Given the description of an element on the screen output the (x, y) to click on. 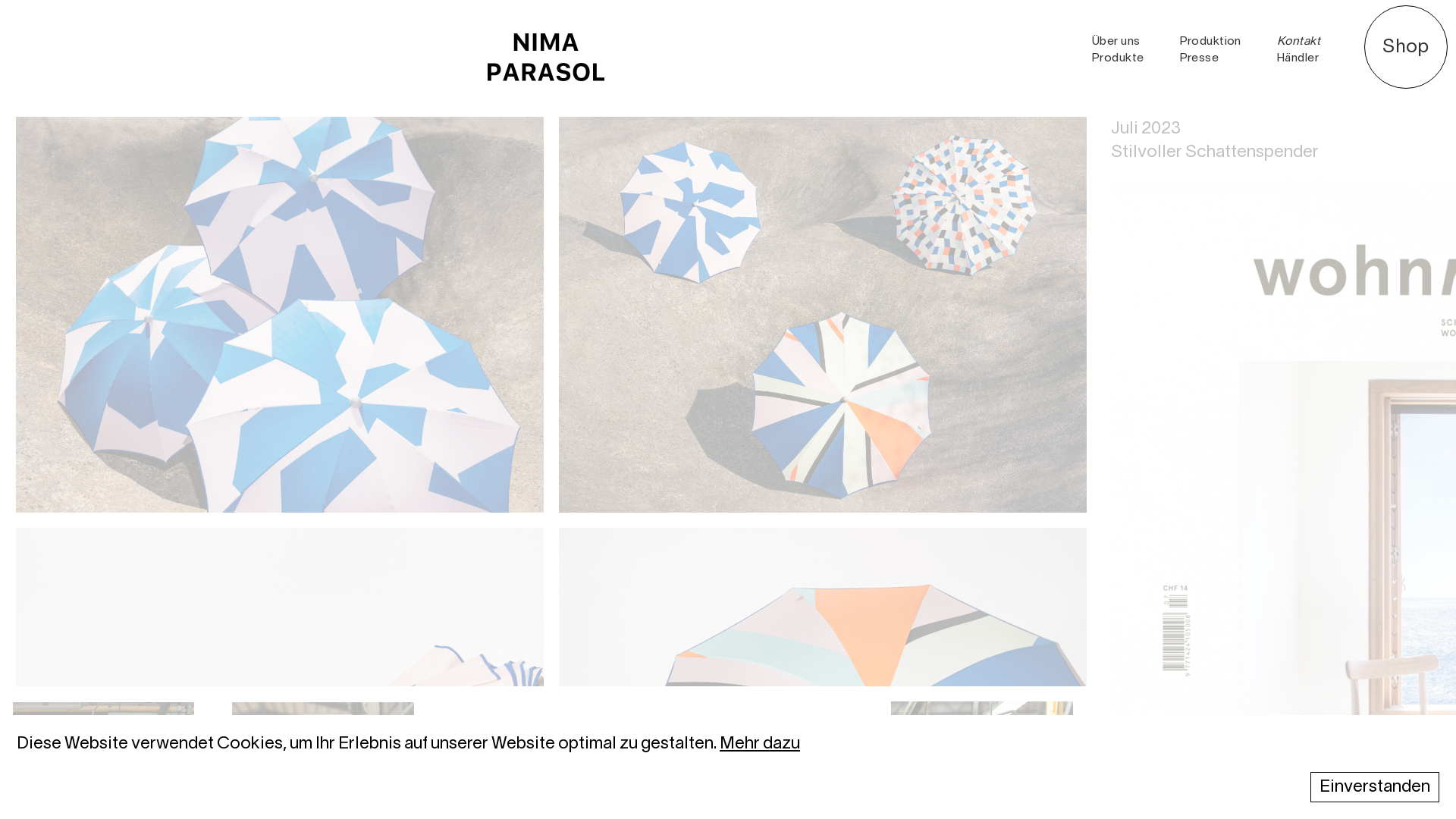
Einverstanden Element type: text (1374, 786)
Logo Element type: hover (545, 57)
Shop Element type: text (1405, 46)
Produktion Element type: text (1210, 41)
Presse Element type: text (1199, 58)
Produkte Element type: text (1118, 58)
Mehr dazu Element type: text (759, 742)
Kontakt Element type: text (1298, 41)
